Given the description of an element on the screen output the (x, y) to click on. 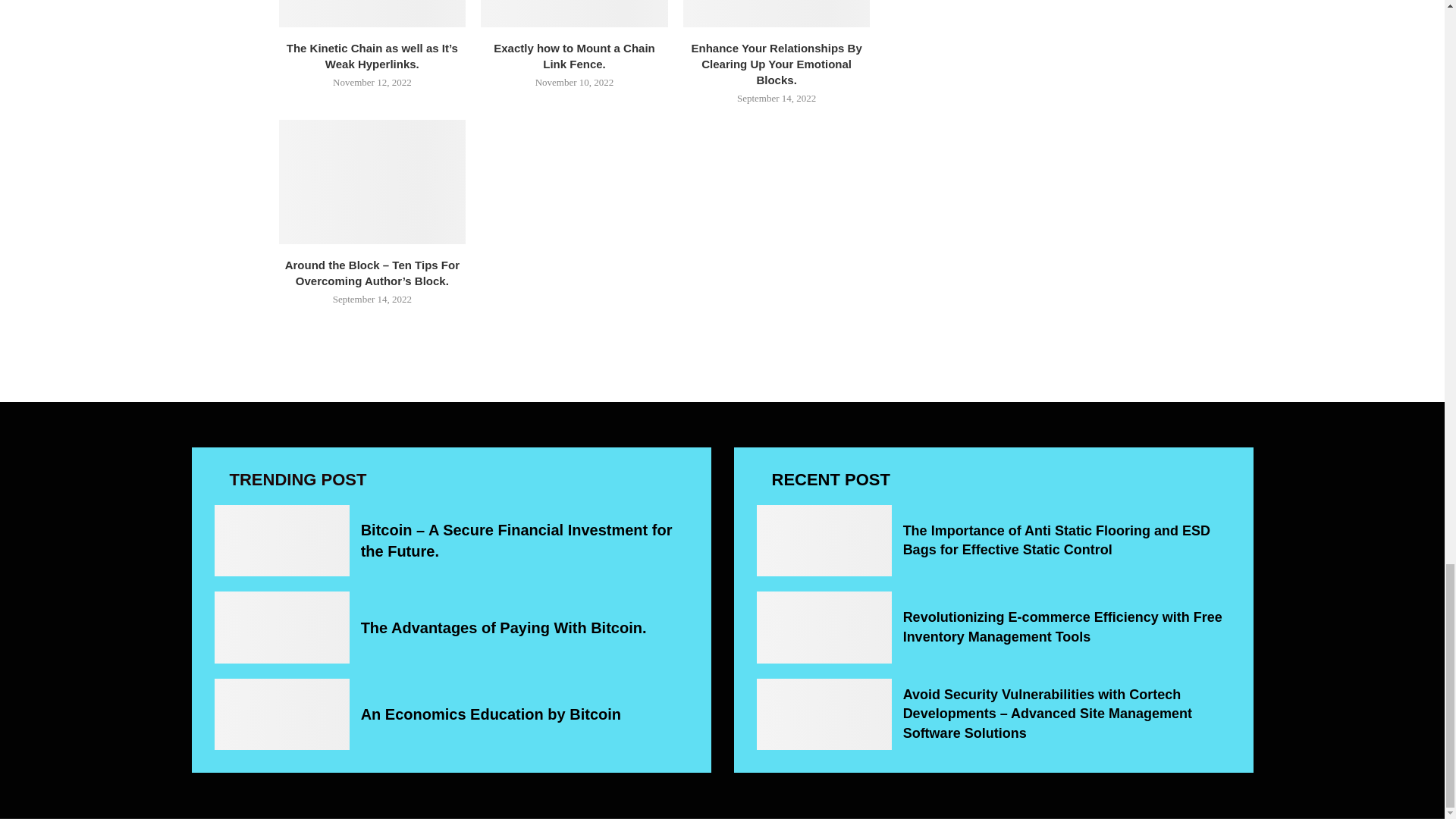
Exactly how to Mount a Chain Link Fence. (574, 13)
